Given the description of an element on the screen output the (x, y) to click on. 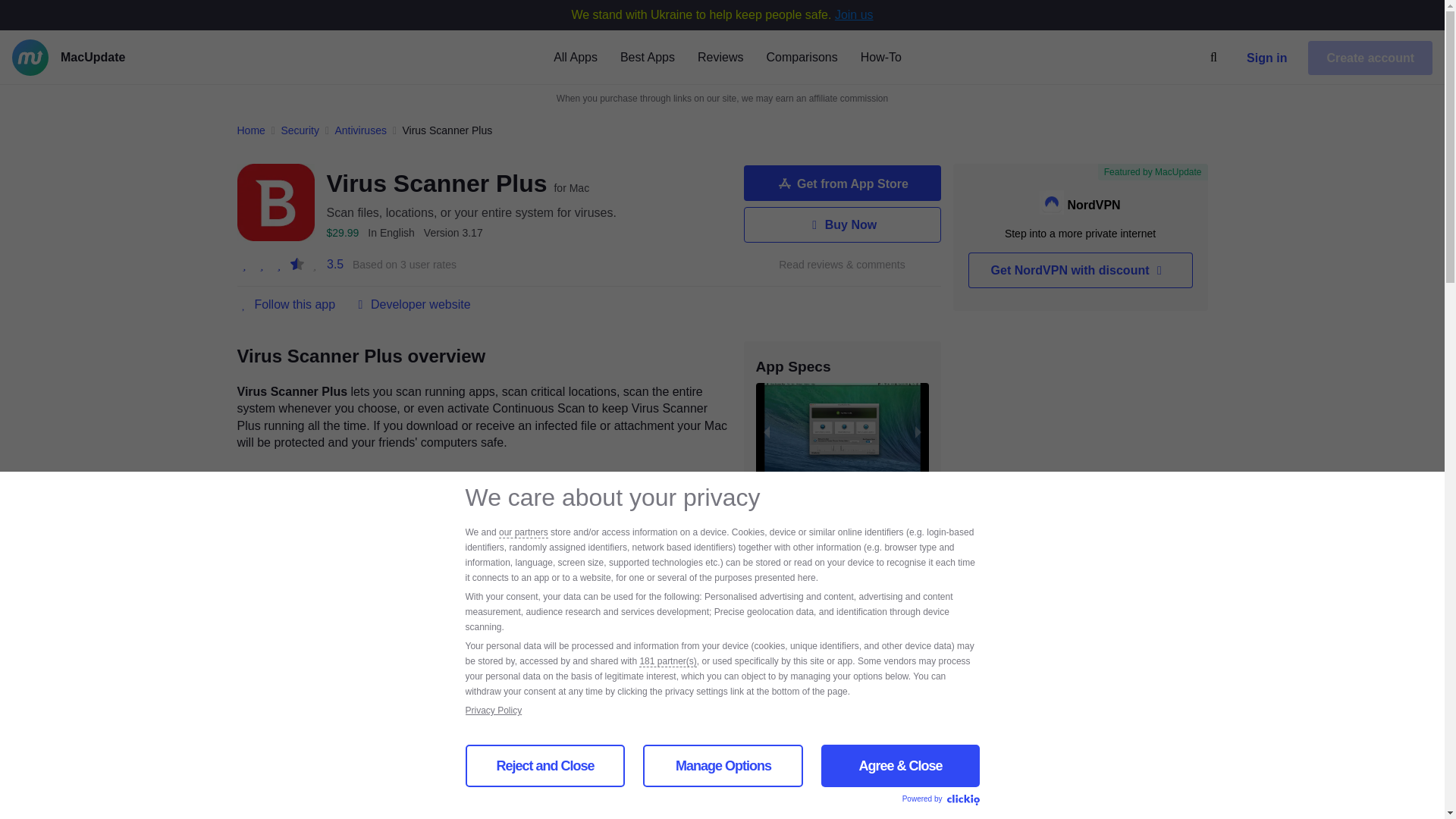
3.17 (453, 232)
Join us (853, 14)
All Apps (574, 56)
MacUpdate (116, 57)
